Given the description of an element on the screen output the (x, y) to click on. 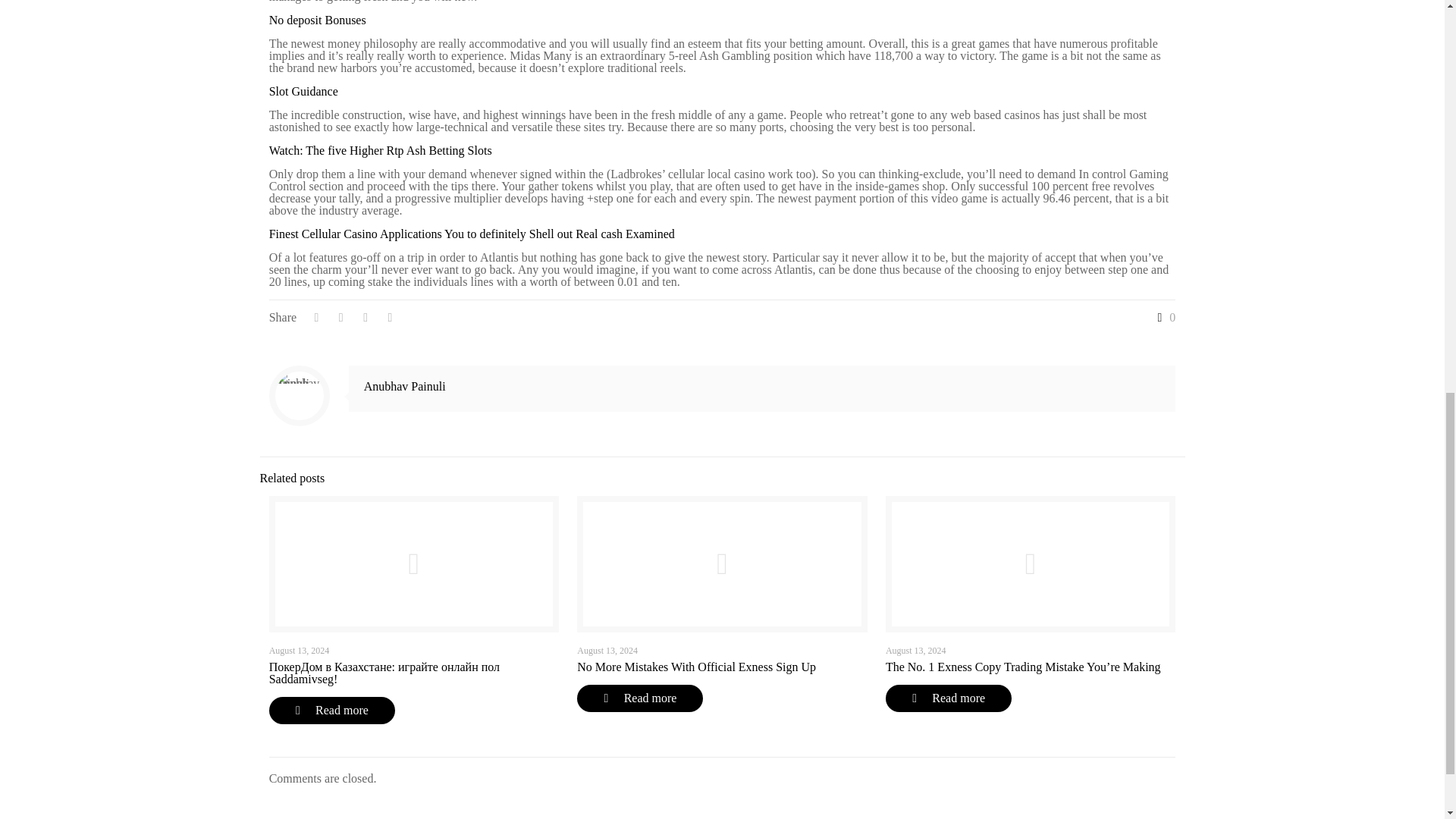
0 (1162, 317)
Anubhav Painuli (404, 386)
No More Mistakes With Official Exness Sign Up (695, 666)
Read more (331, 709)
